Given the description of an element on the screen output the (x, y) to click on. 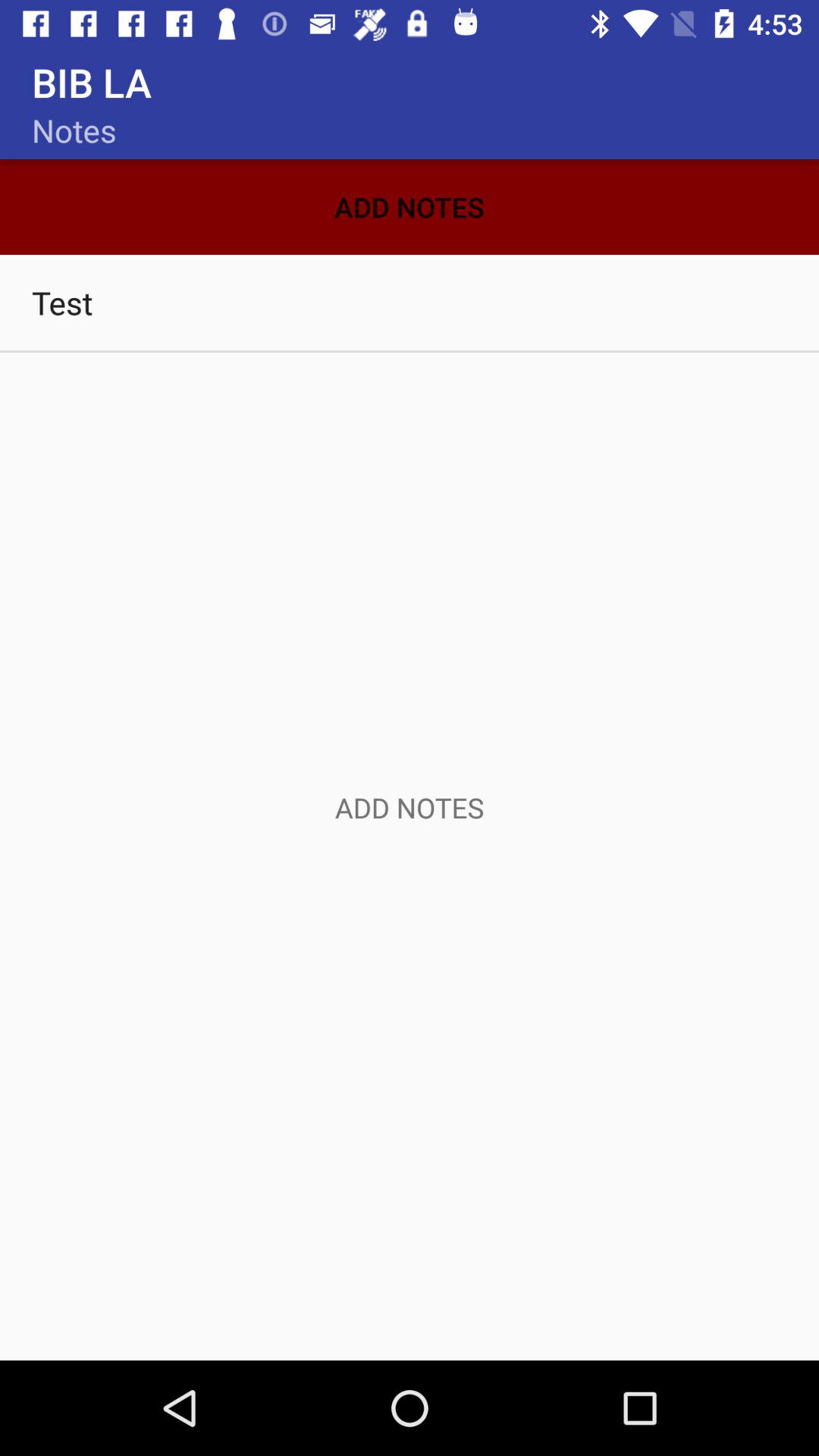
swipe until test item (409, 302)
